Given the description of an element on the screen output the (x, y) to click on. 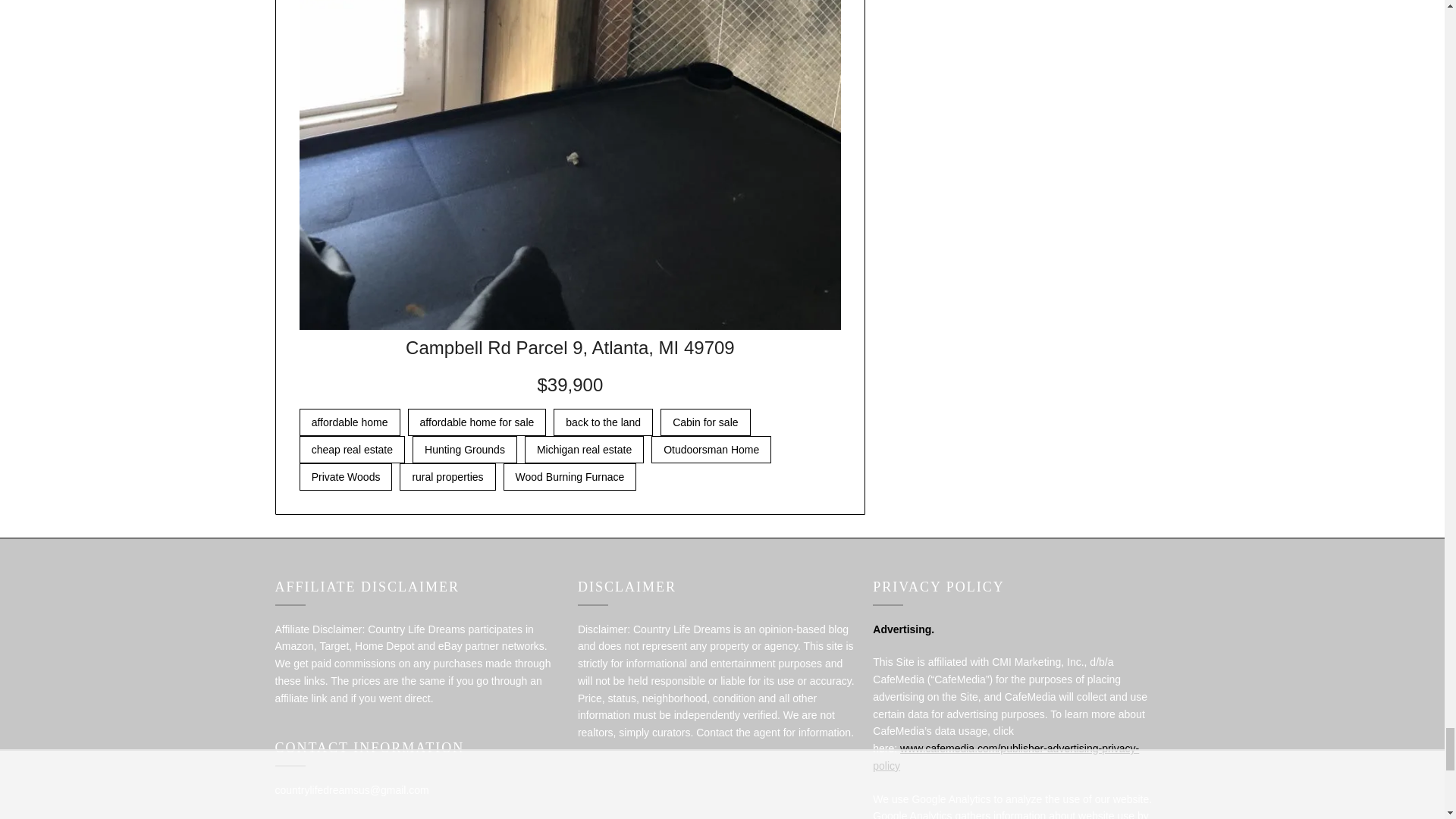
cheap real estate (351, 449)
Private Woods (346, 476)
Michigan real estate (583, 449)
affordable home (349, 421)
Hunting Grounds (464, 449)
affordable home for sale (477, 421)
Cabin for sale (705, 421)
back to the land (602, 421)
Otudoorsman Home (710, 449)
